Given the description of an element on the screen output the (x, y) to click on. 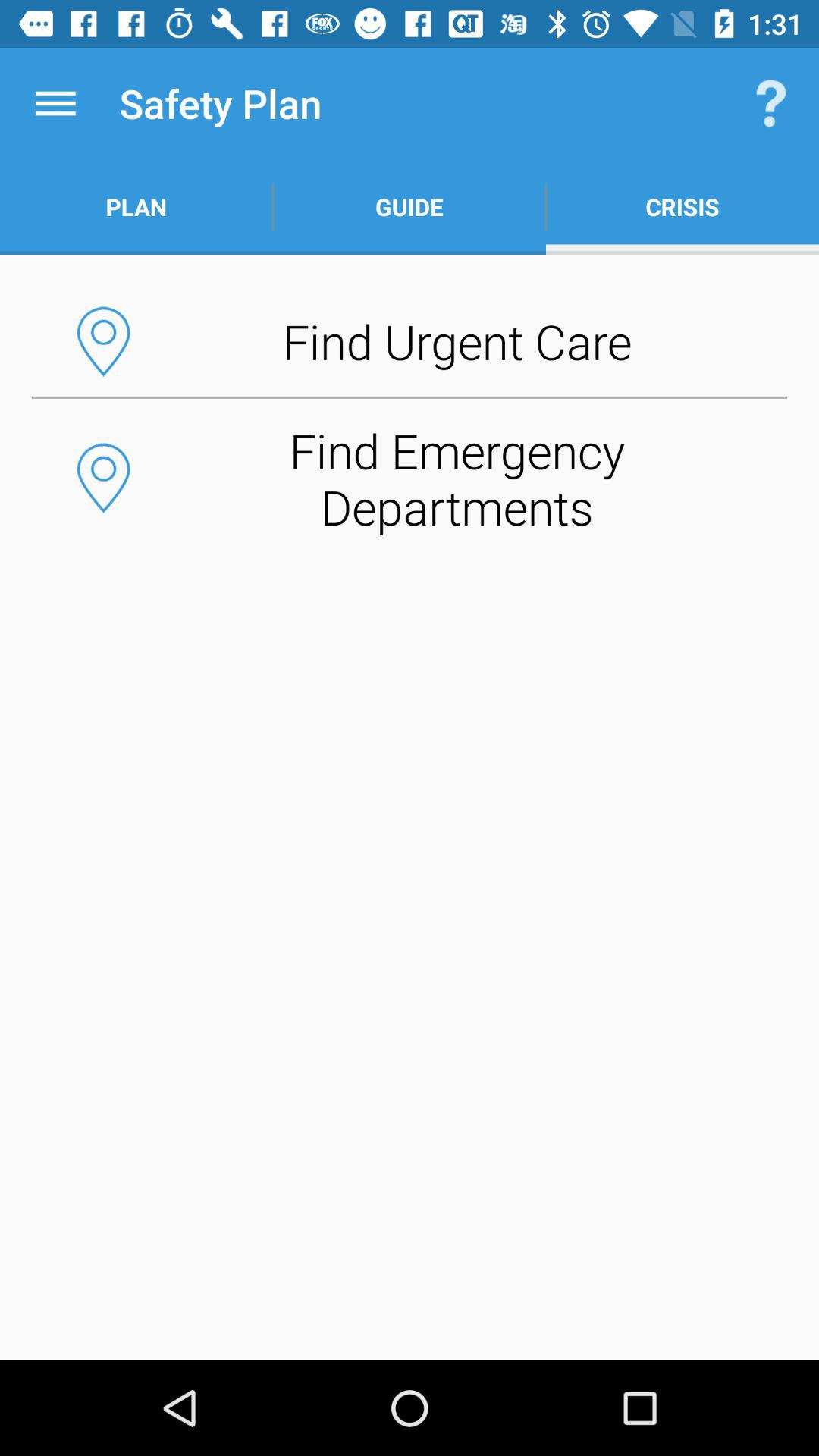
choose app above the plan (55, 103)
